Given the description of an element on the screen output the (x, y) to click on. 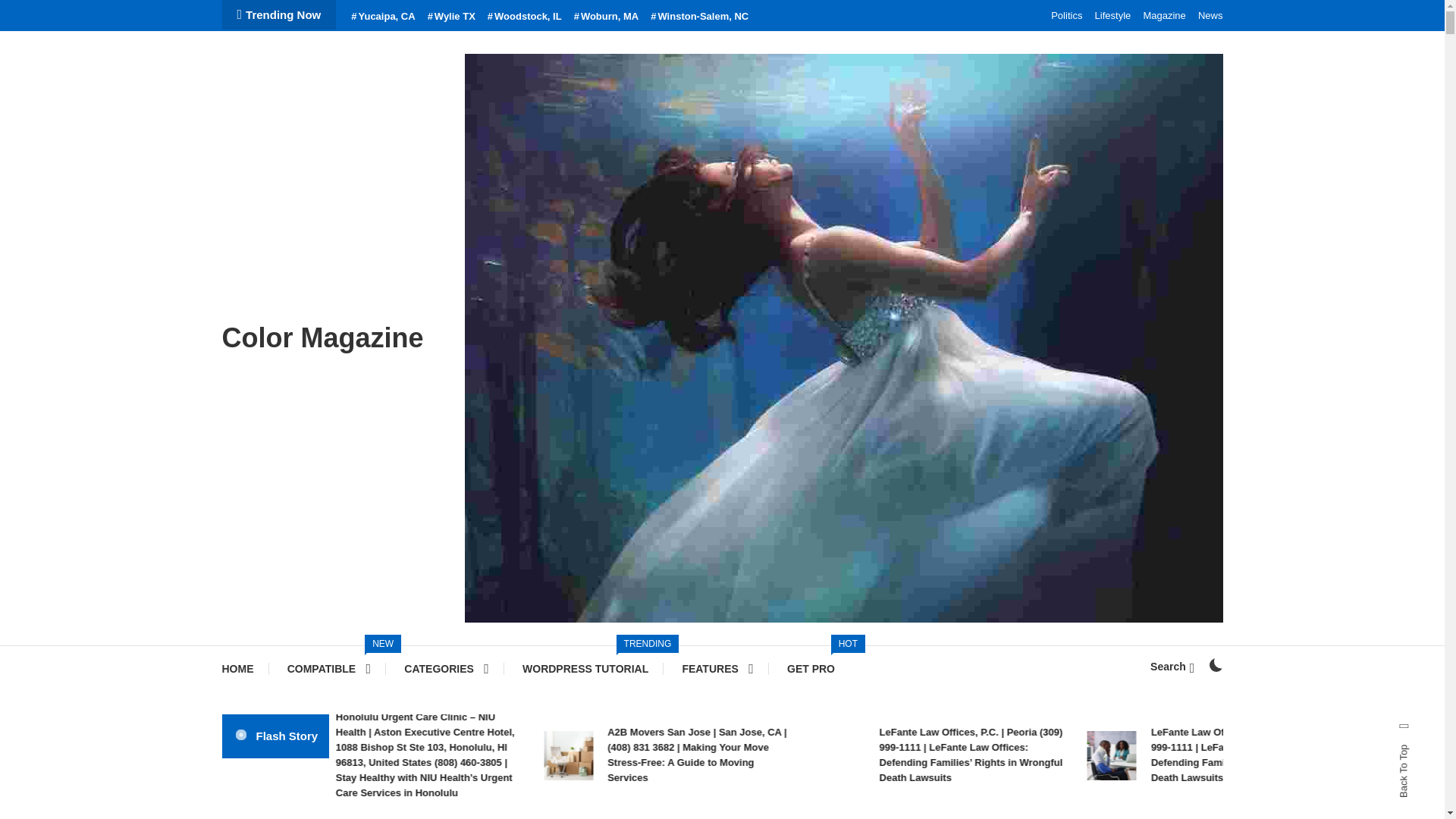
HOME (244, 668)
FEATURES (717, 668)
CATEGORIES (445, 668)
Lifestyle (1112, 15)
News (584, 668)
Woodstock, IL (1210, 15)
Winston-Salem, NC (524, 16)
on (699, 16)
Magazine (1215, 664)
Yucaipa, CA (1163, 15)
Wylie TX (810, 668)
Search (382, 16)
Color Magazine (452, 16)
